Given the description of an element on the screen output the (x, y) to click on. 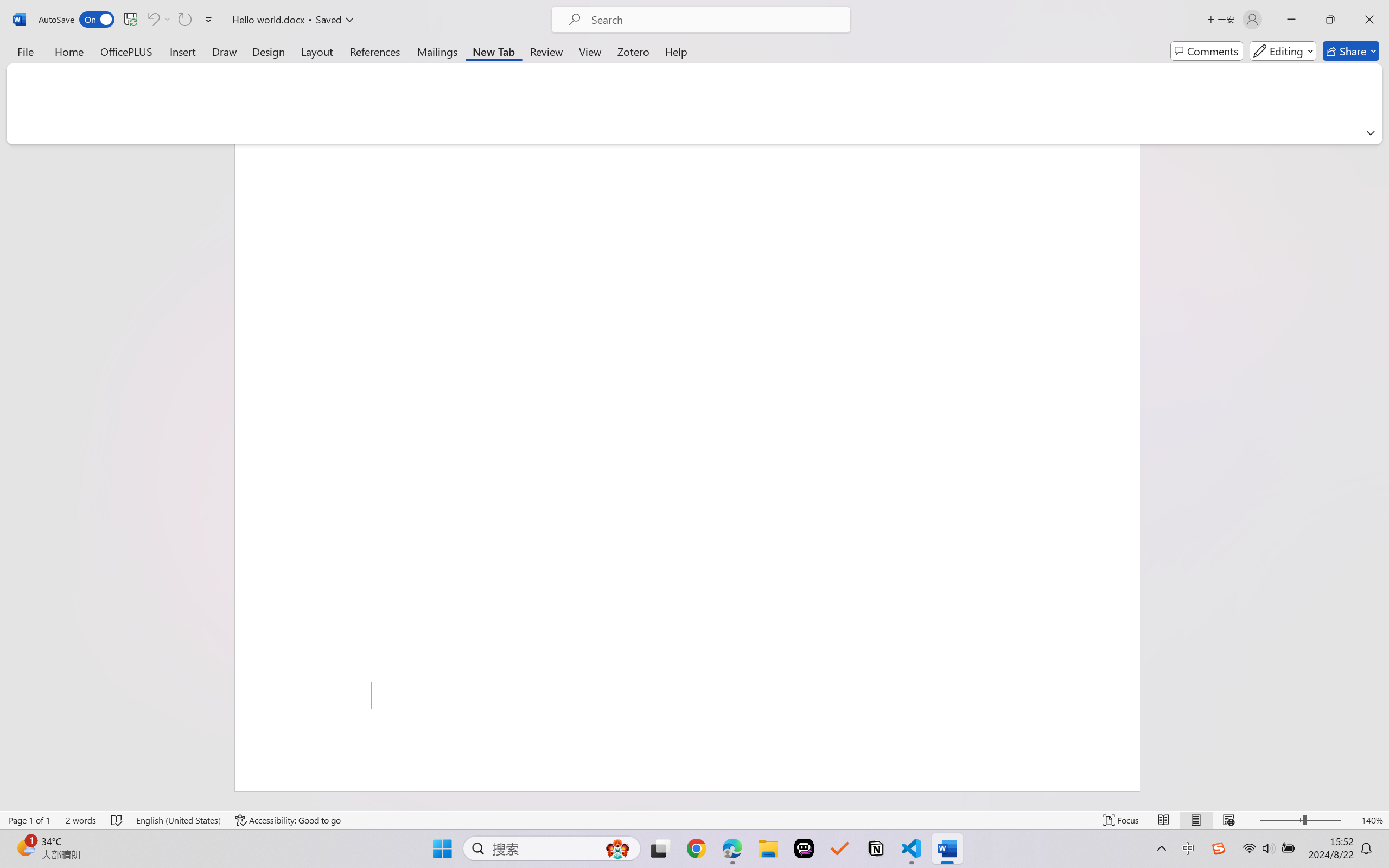
Zoom 140% (1372, 819)
Restore Down (1330, 19)
References (375, 51)
Share (1350, 51)
Page Number Page 1 of 1 (29, 819)
File Tab (24, 51)
Can't Repeat (184, 19)
Microsoft search (715, 19)
Read Mode (1163, 819)
